Given the description of an element on the screen output the (x, y) to click on. 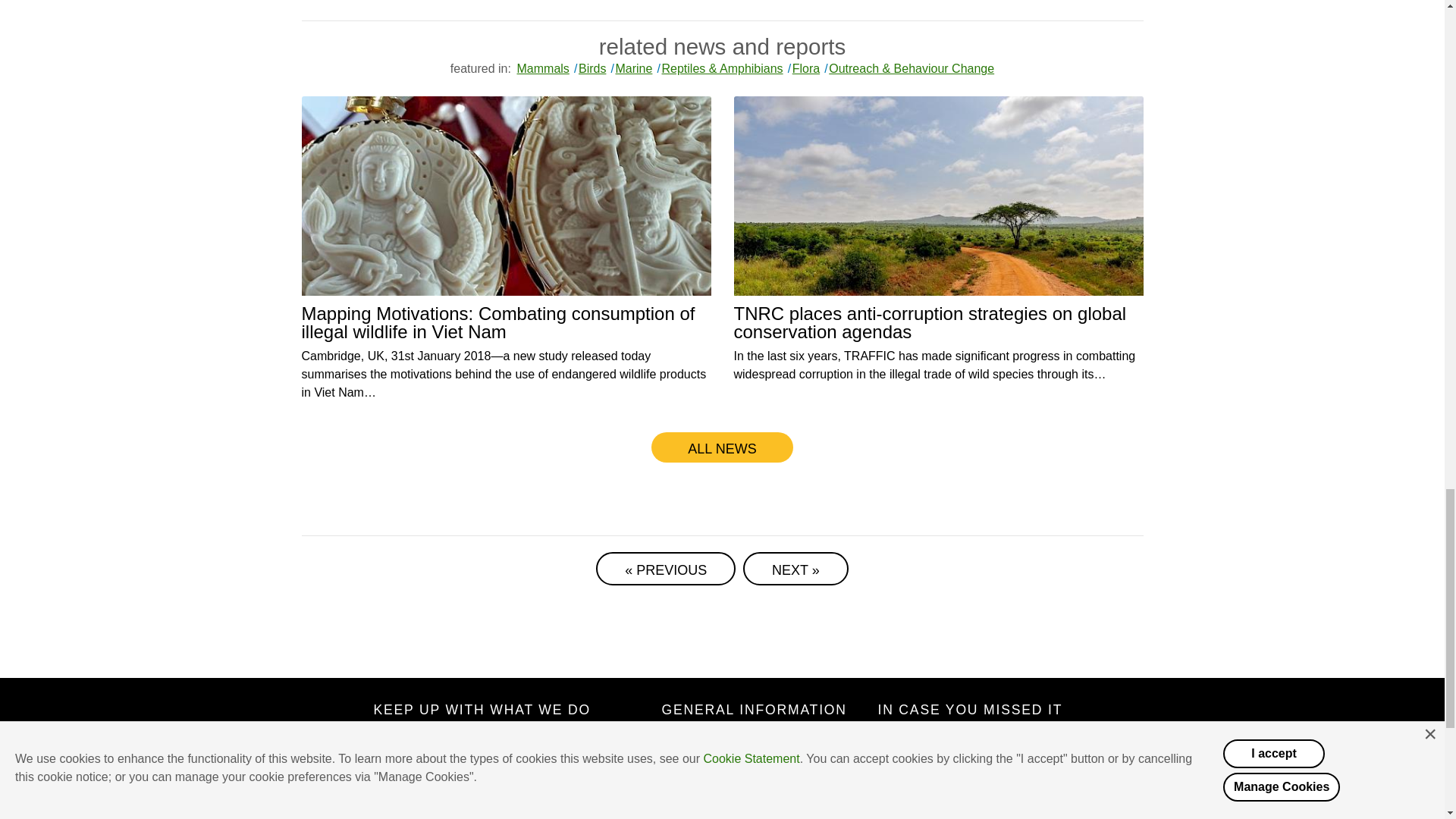
Birds (588, 68)
Follow us on Instagram (521, 807)
Video library (924, 783)
Follow us on Twitter (432, 807)
Visit our YouTube Channel (566, 807)
Visit our Facebook Page (386, 807)
Marine (631, 68)
Mammals (541, 68)
Contact us at LinkedIn (476, 807)
Charity accounts (708, 783)
